Given the description of an element on the screen output the (x, y) to click on. 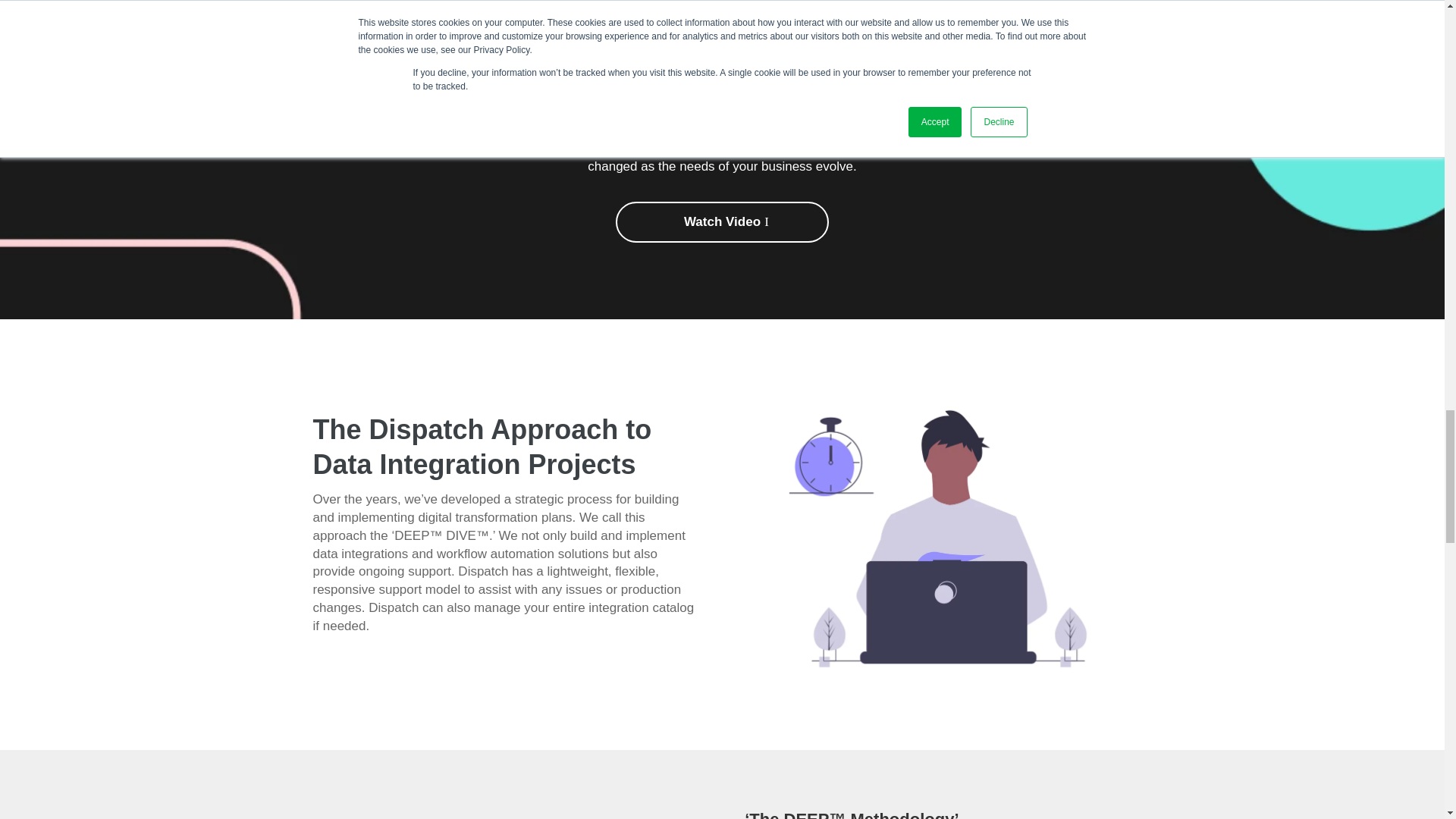
workato-gold-partner-white (721, 15)
